Given the description of an element on the screen output the (x, y) to click on. 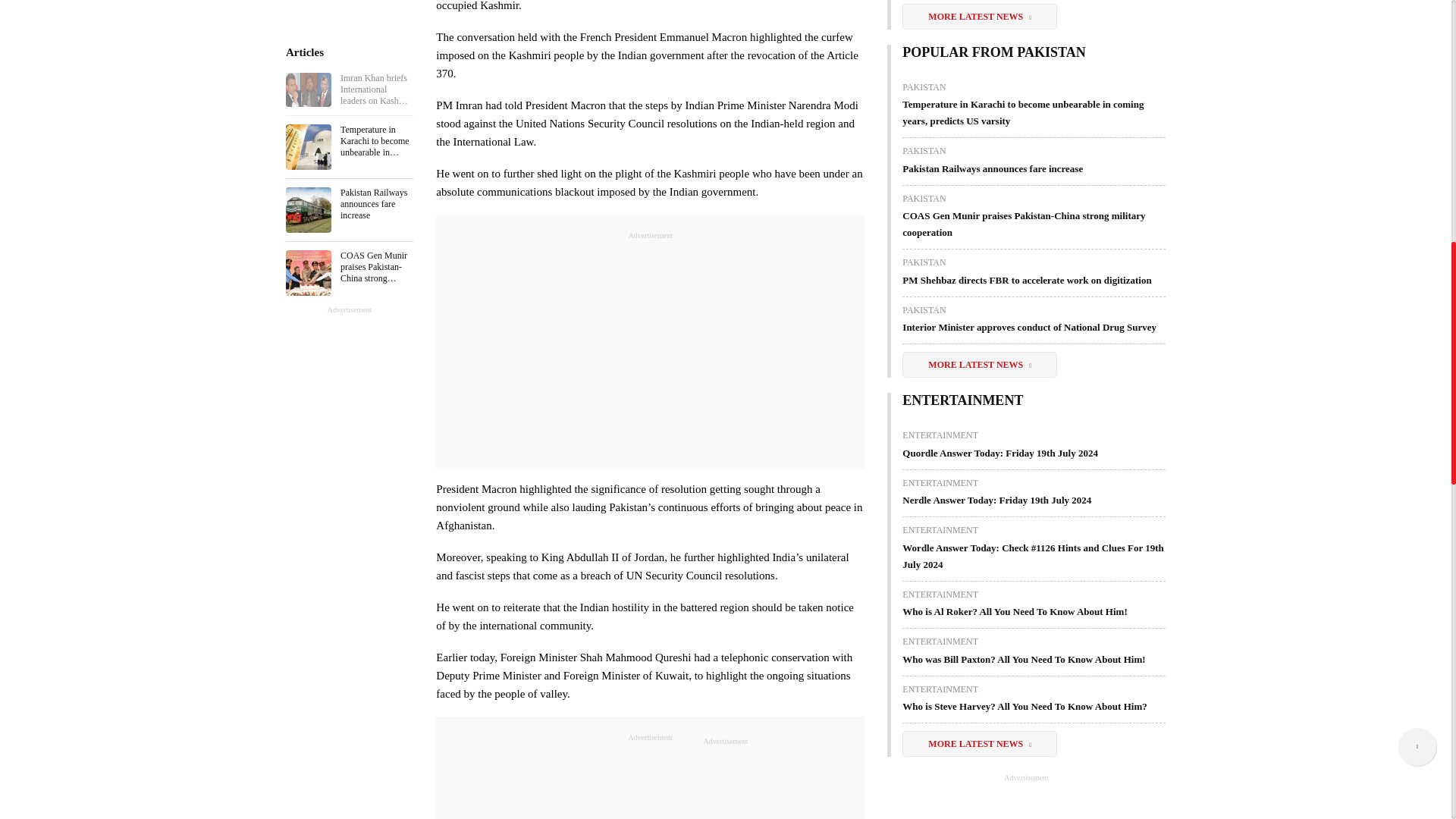
Advertisement (1000, 800)
Advertisement (649, 346)
Advertisement (649, 780)
